Given the description of an element on the screen output the (x, y) to click on. 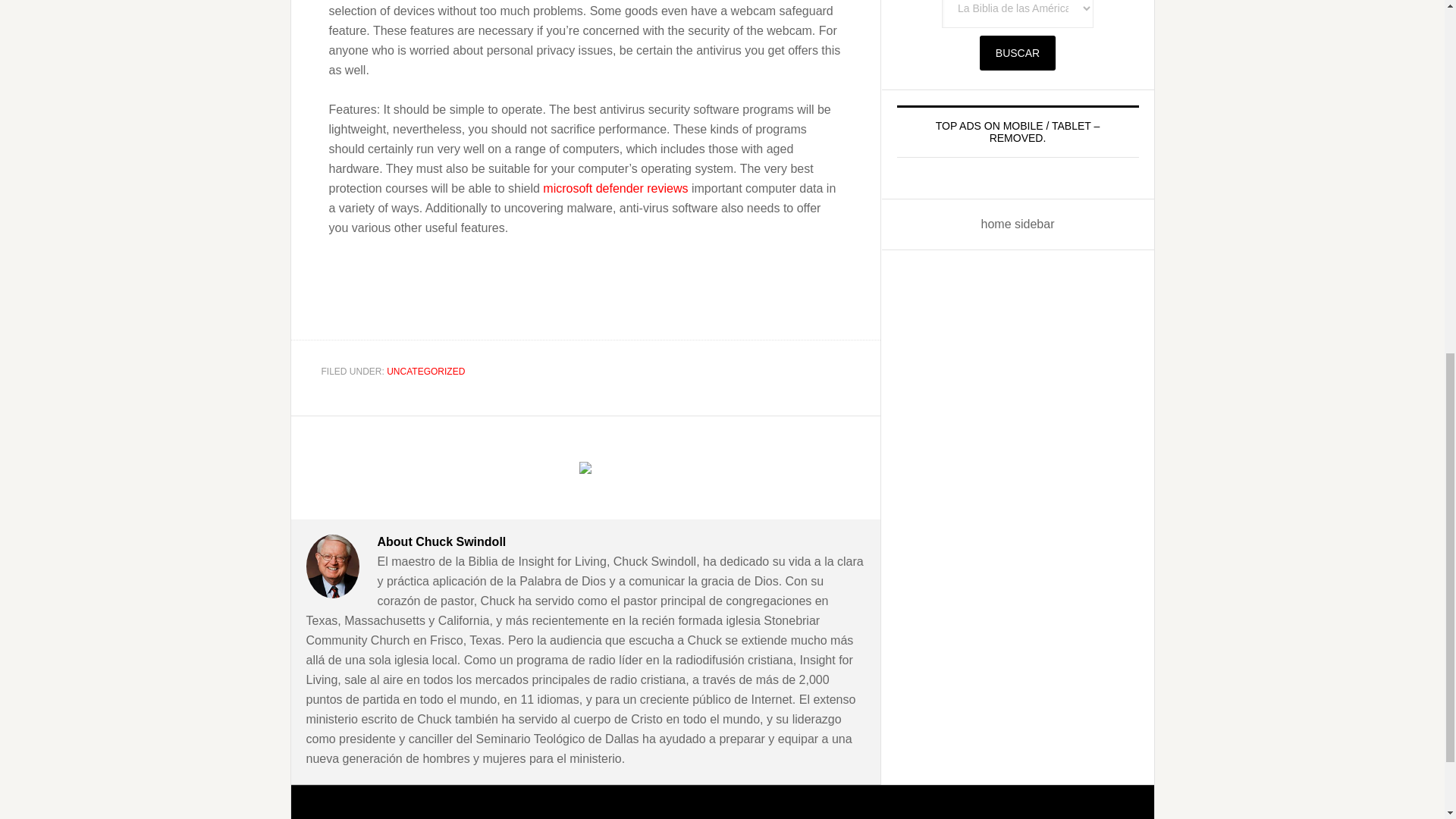
Buscar (1017, 53)
